Given the description of an element on the screen output the (x, y) to click on. 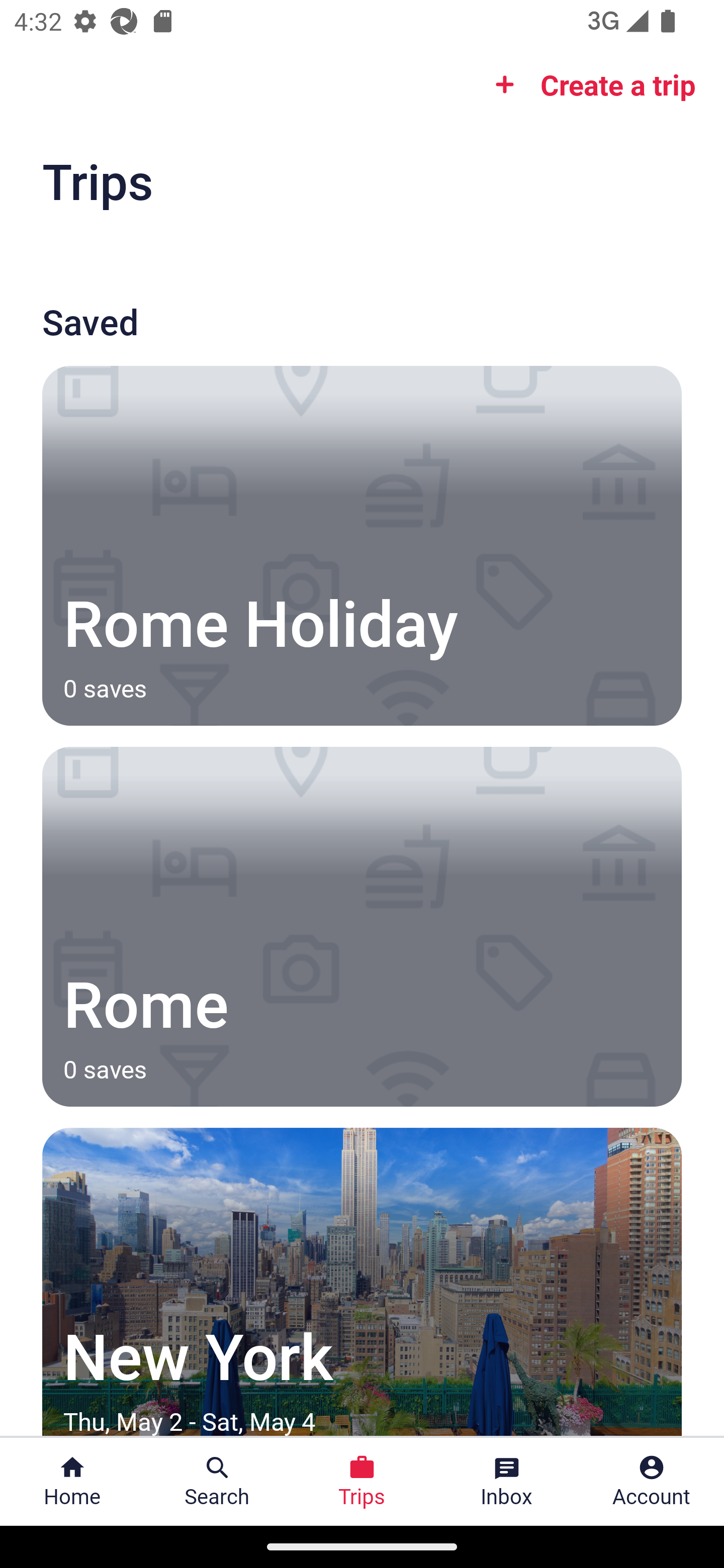
Create a trip Create a trip Button (589, 84)
Rome. 0 saves.  Button Rome 0 saves (361, 926)
Home Home Button (72, 1481)
Search Search Button (216, 1481)
Inbox Inbox Button (506, 1481)
Account Profile. Button (651, 1481)
